Given the description of an element on the screen output the (x, y) to click on. 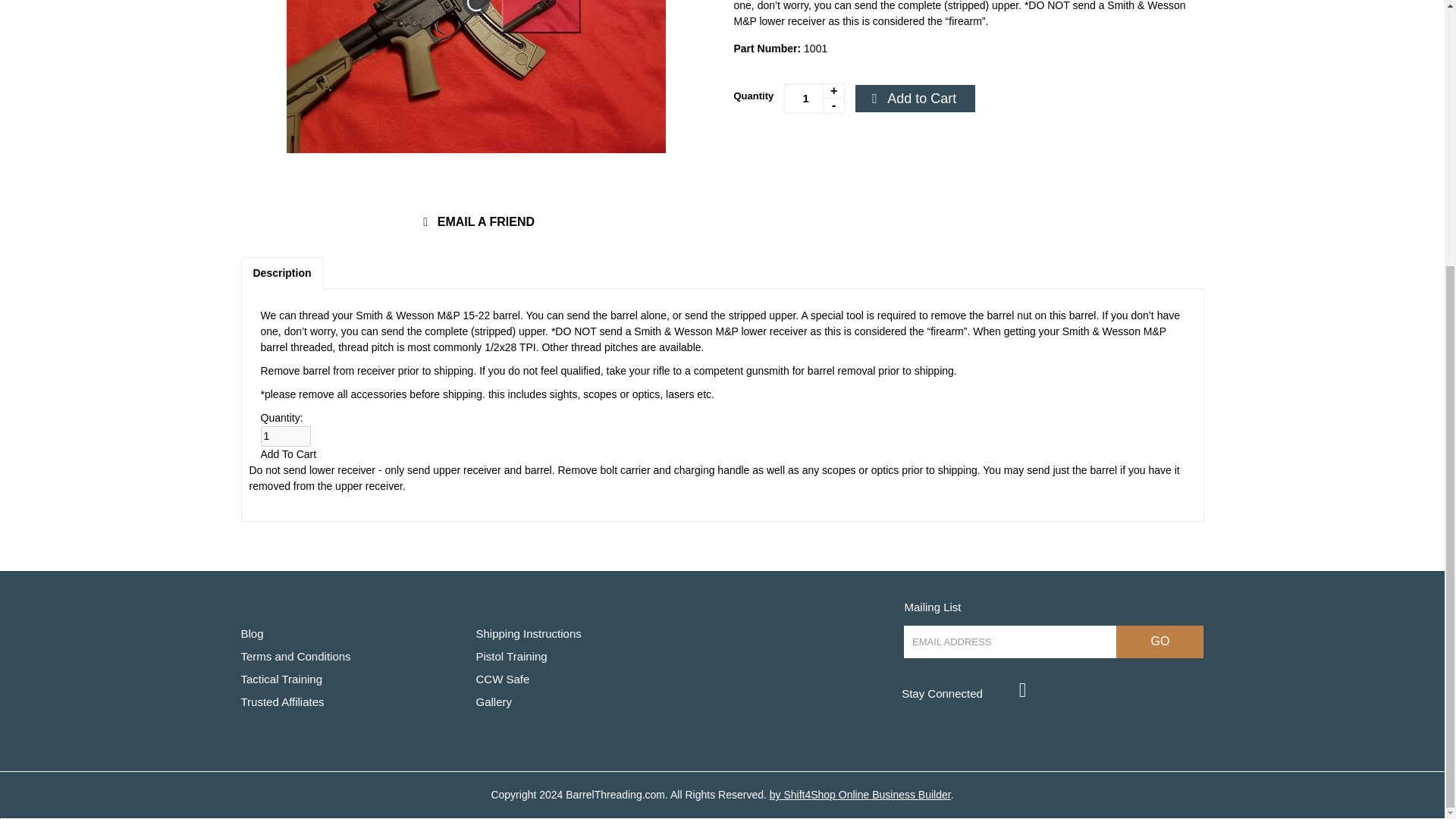
Follow Us on Instagram (1020, 688)
1 (814, 98)
EMAIL A FRIEND (475, 222)
1 (285, 435)
